Given the description of an element on the screen output the (x, y) to click on. 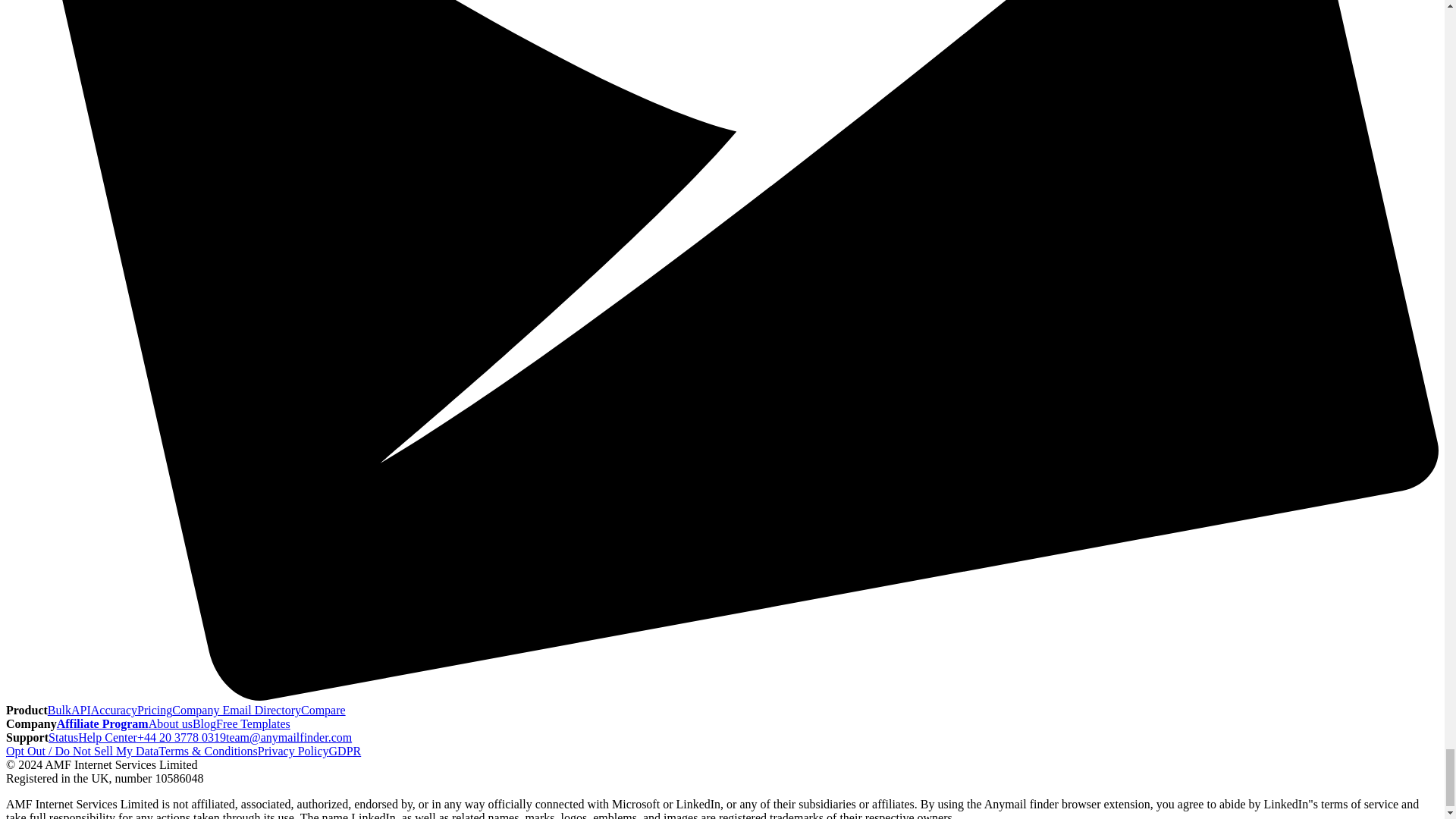
API (80, 709)
Pricing (153, 709)
About us (170, 723)
Accuracy (113, 709)
Compare (323, 709)
Bulk (59, 709)
Status (63, 737)
Help Center (107, 737)
Blog (203, 723)
Company Email Directory (236, 709)
Affiliate Program (102, 723)
Free Templates (252, 723)
